Given the description of an element on the screen output the (x, y) to click on. 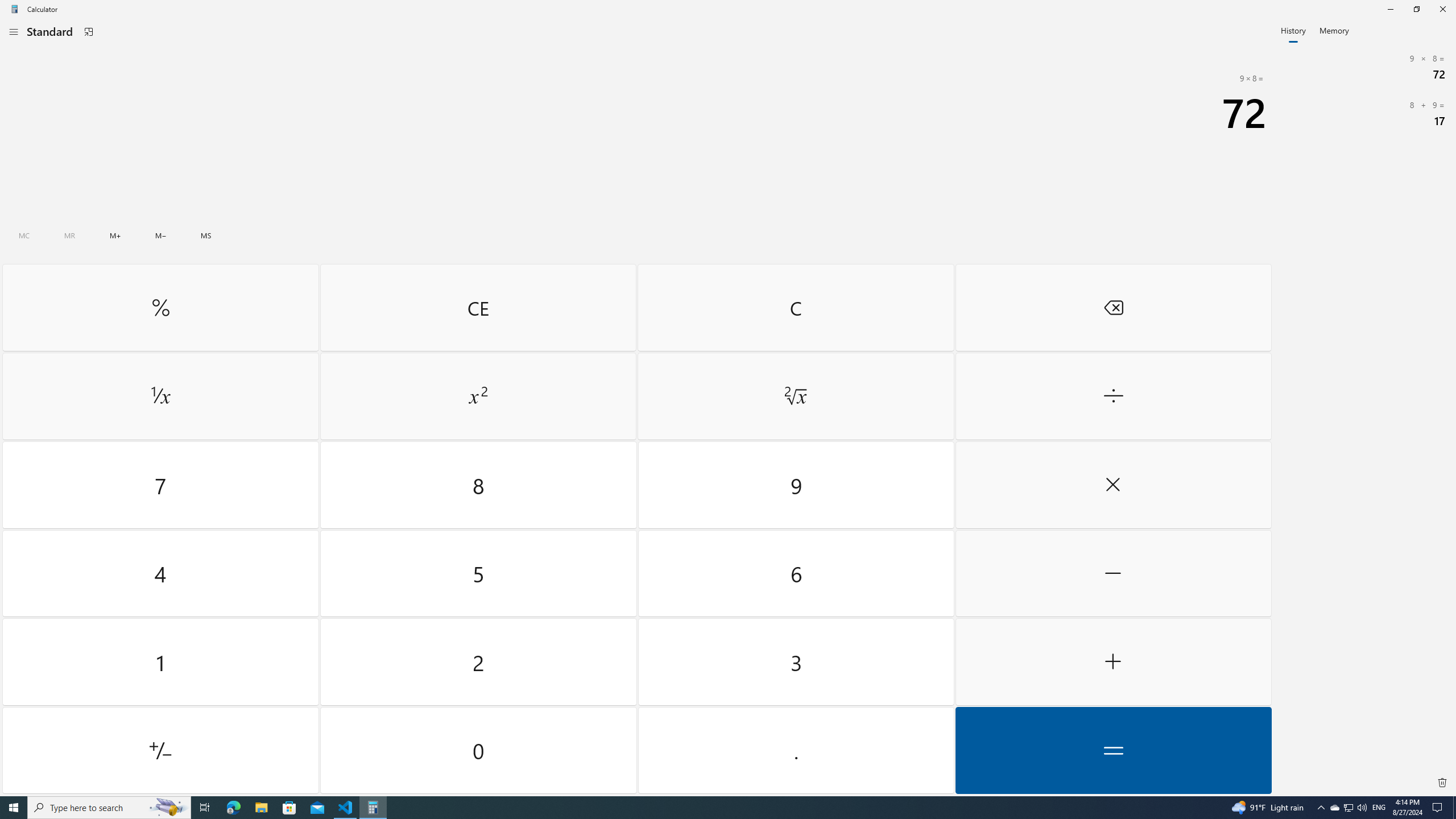
Tray Input Indicator - English (United States) (1378, 807)
Square root (1333, 807)
Six (795, 396)
Restore Calculator (795, 572)
Equals (1416, 9)
Microsoft Store (1113, 749)
Clear all memory (289, 807)
Reciprocal (24, 235)
Task View (160, 396)
File Explorer (204, 807)
Memory store (261, 807)
Calculator - 1 running window (206, 235)
8 + 9= 17 (373, 807)
